Given the description of an element on the screen output the (x, y) to click on. 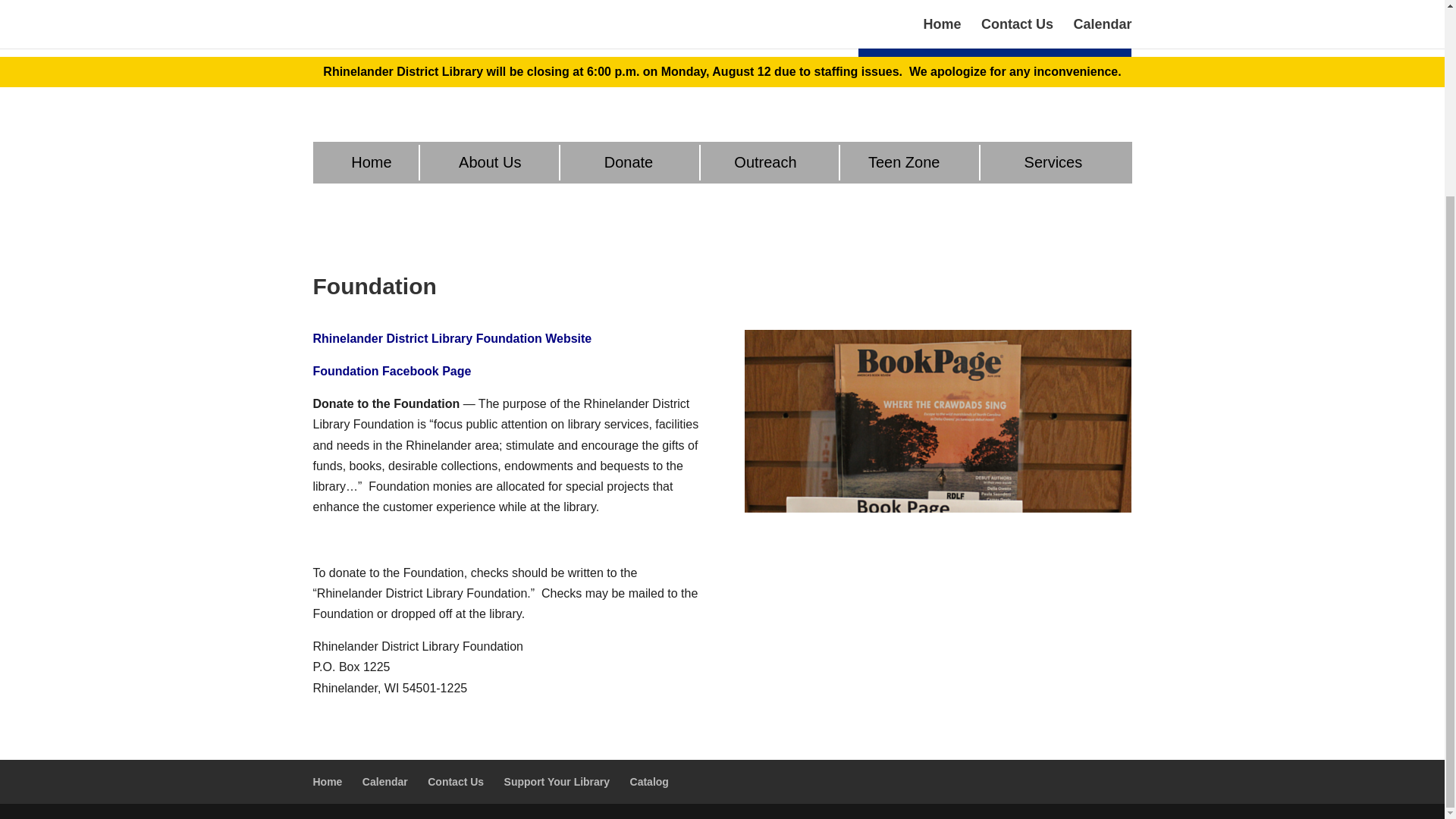
Calendar (384, 781)
Rhinelander District Library (404, 2)
Home (327, 781)
Rhinelander District Library Foundation Website (452, 338)
Foundation Facebook Page (391, 370)
Catalog (649, 781)
Support Your Library (556, 781)
Contact Us (455, 781)
Catalog Home (995, 21)
